Given the description of an element on the screen output the (x, y) to click on. 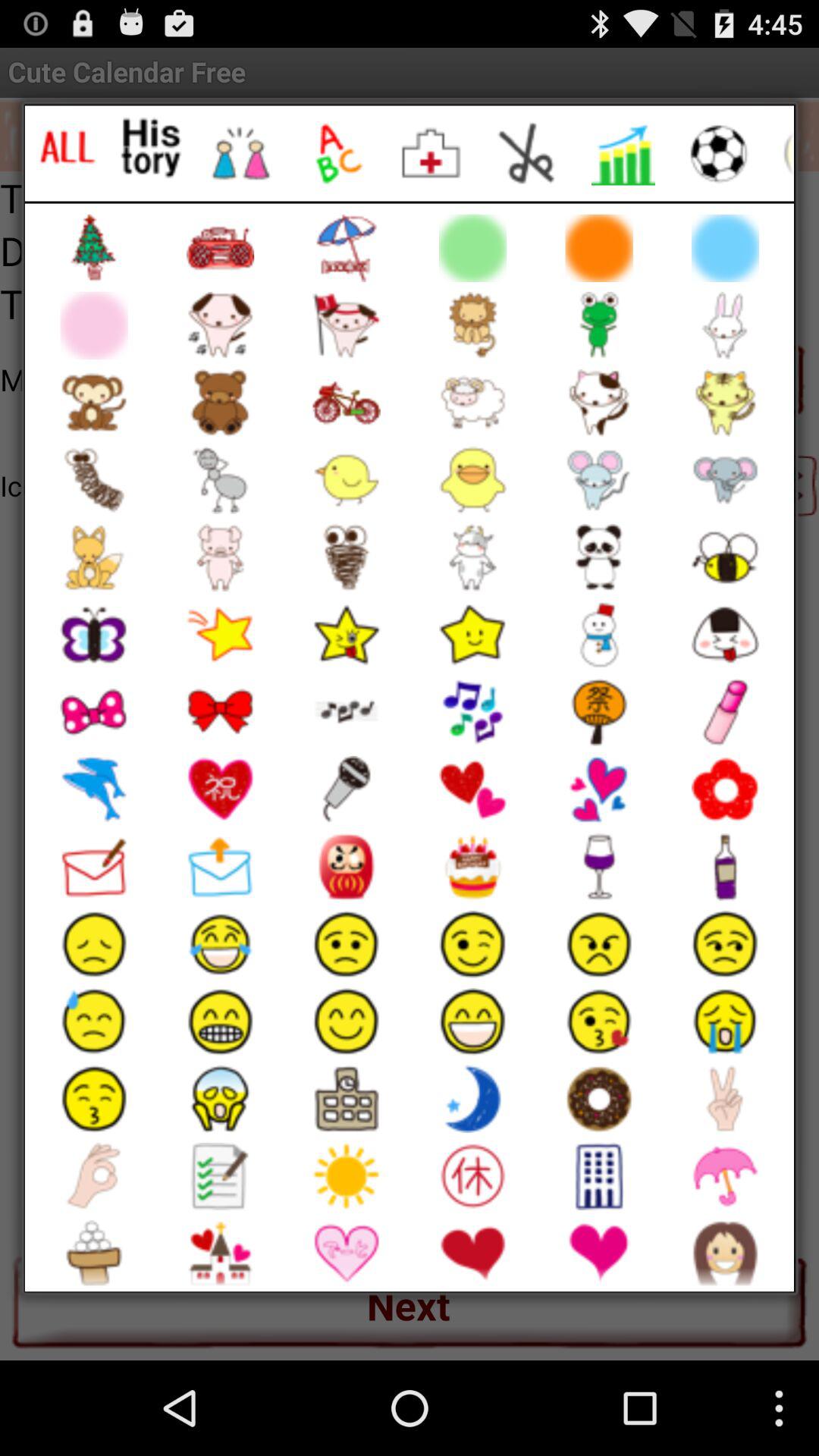
emoji chart (623, 153)
